Given the description of an element on the screen output the (x, y) to click on. 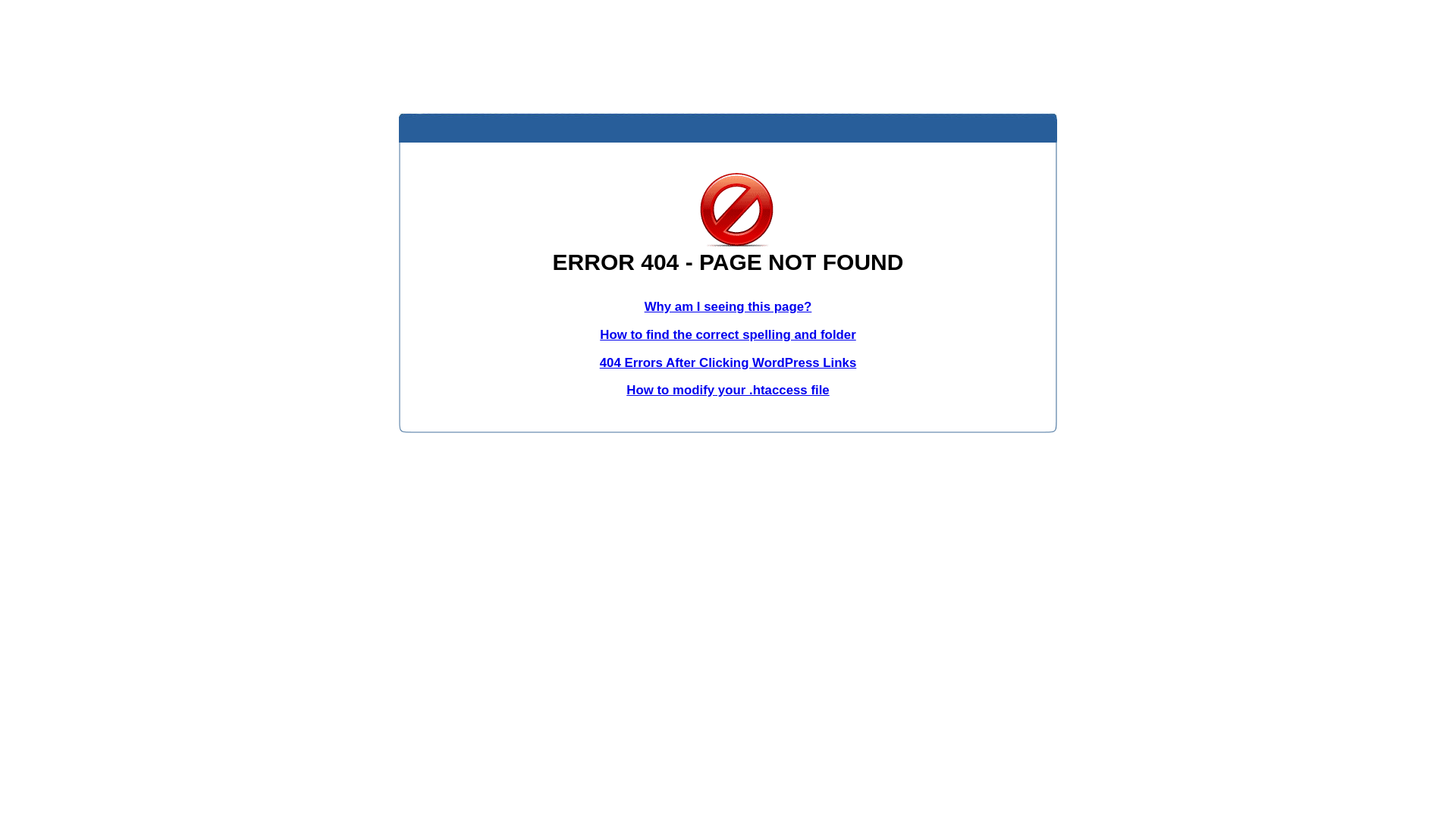
How to find the correct spelling and folder Element type: text (727, 334)
404 Errors After Clicking WordPress Links Element type: text (727, 362)
How to modify your .htaccess file Element type: text (727, 389)
Why am I seeing this page? Element type: text (728, 306)
